Given the description of an element on the screen output the (x, y) to click on. 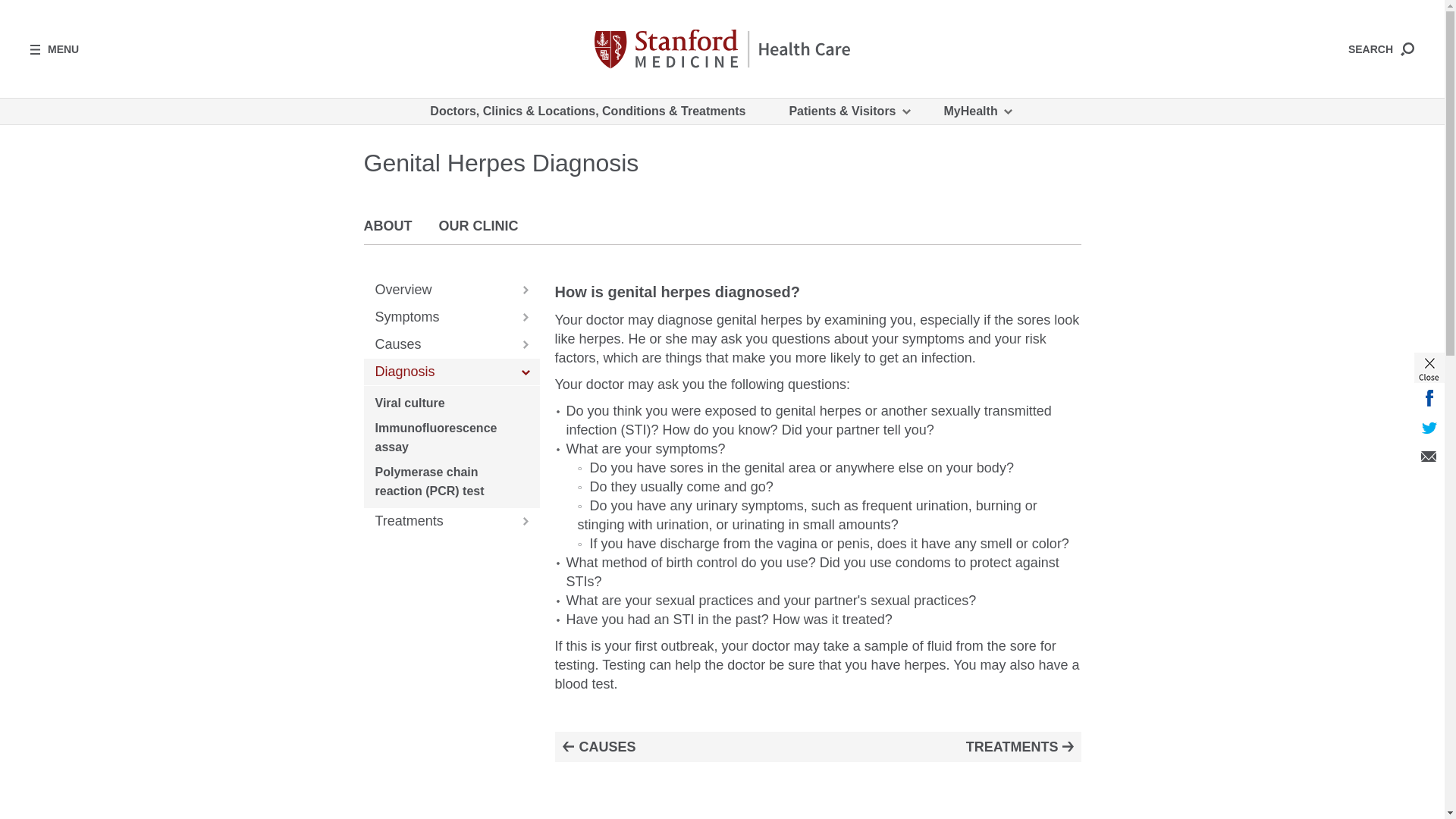
SEARCH (1380, 49)
MENU (54, 49)
MyHealth (976, 110)
